Given the description of an element on the screen output the (x, y) to click on. 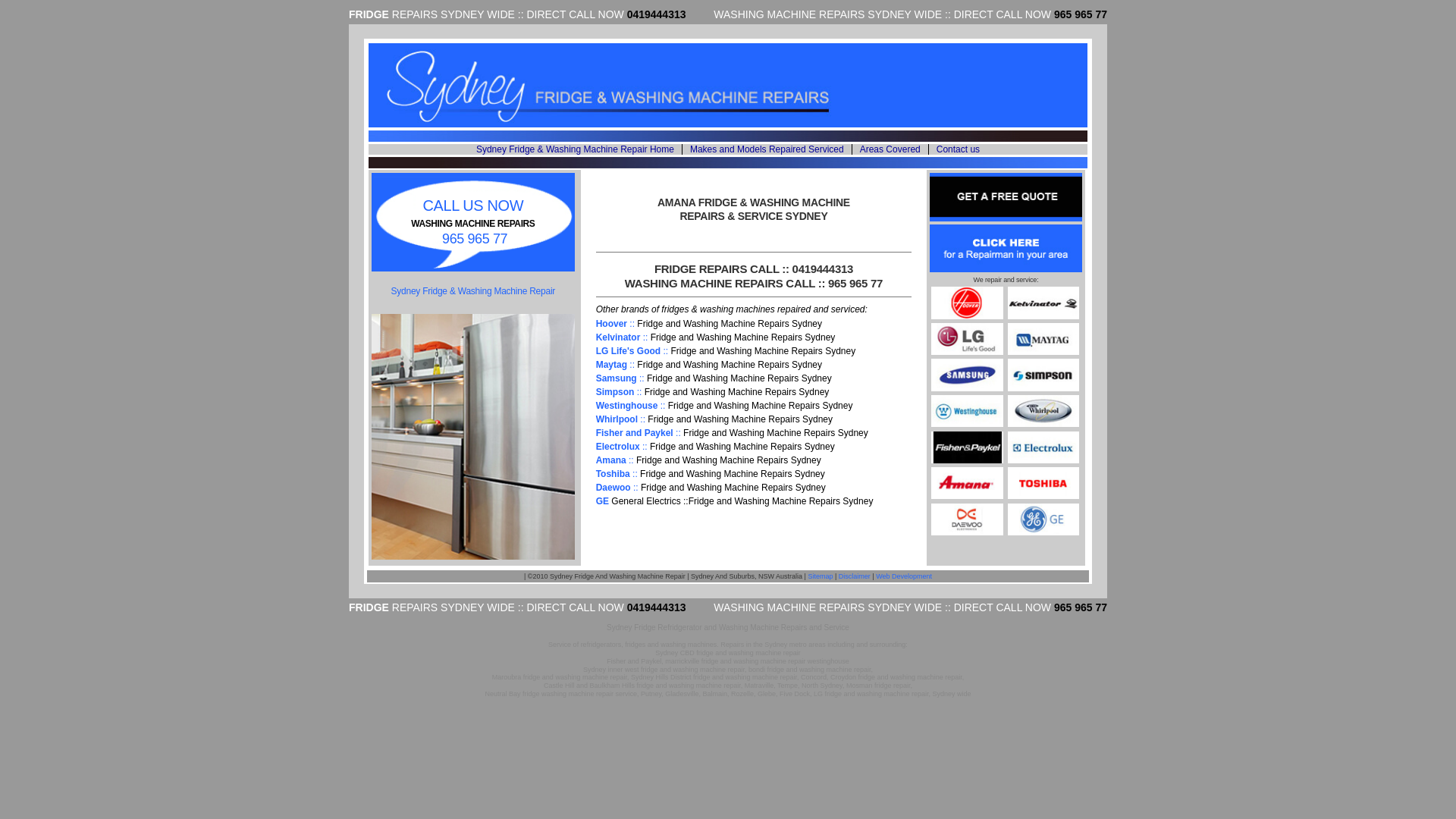
Hoover :: Element type: text (616, 323)
Amana :: Element type: text (614, 460)
Sydney Fridge & Washing Machine Repair Element type: text (473, 290)
Fisher and Paykel :: Element type: text (638, 432)
Contact us Element type: text (957, 149)
Whirlpool :: Element type: text (620, 419)
GE Element type: text (602, 500)
LG Life's Good :: Element type: text (633, 350)
Sydney Fridge & Washing Machine Repair Home Element type: text (574, 149)
Simpson :: Element type: text (619, 391)
Sitemap Element type: text (819, 576)
Web Development Element type: text (903, 576)
Disclaimer Element type: text (854, 576)
Electrolux :: Element type: text (621, 446)
Toshiba :: Element type: text (616, 473)
Areas Covered Element type: text (890, 149)
Daewoo :: Element type: text (617, 487)
Samsung :: Element type: text (620, 378)
Maytag :: Element type: text (615, 364)
Makes and Models Repaired Serviced Element type: text (766, 149)
Kelvinator :: Element type: text (622, 337)
Westinghouse :: Element type: text (630, 405)
